Given the description of an element on the screen output the (x, y) to click on. 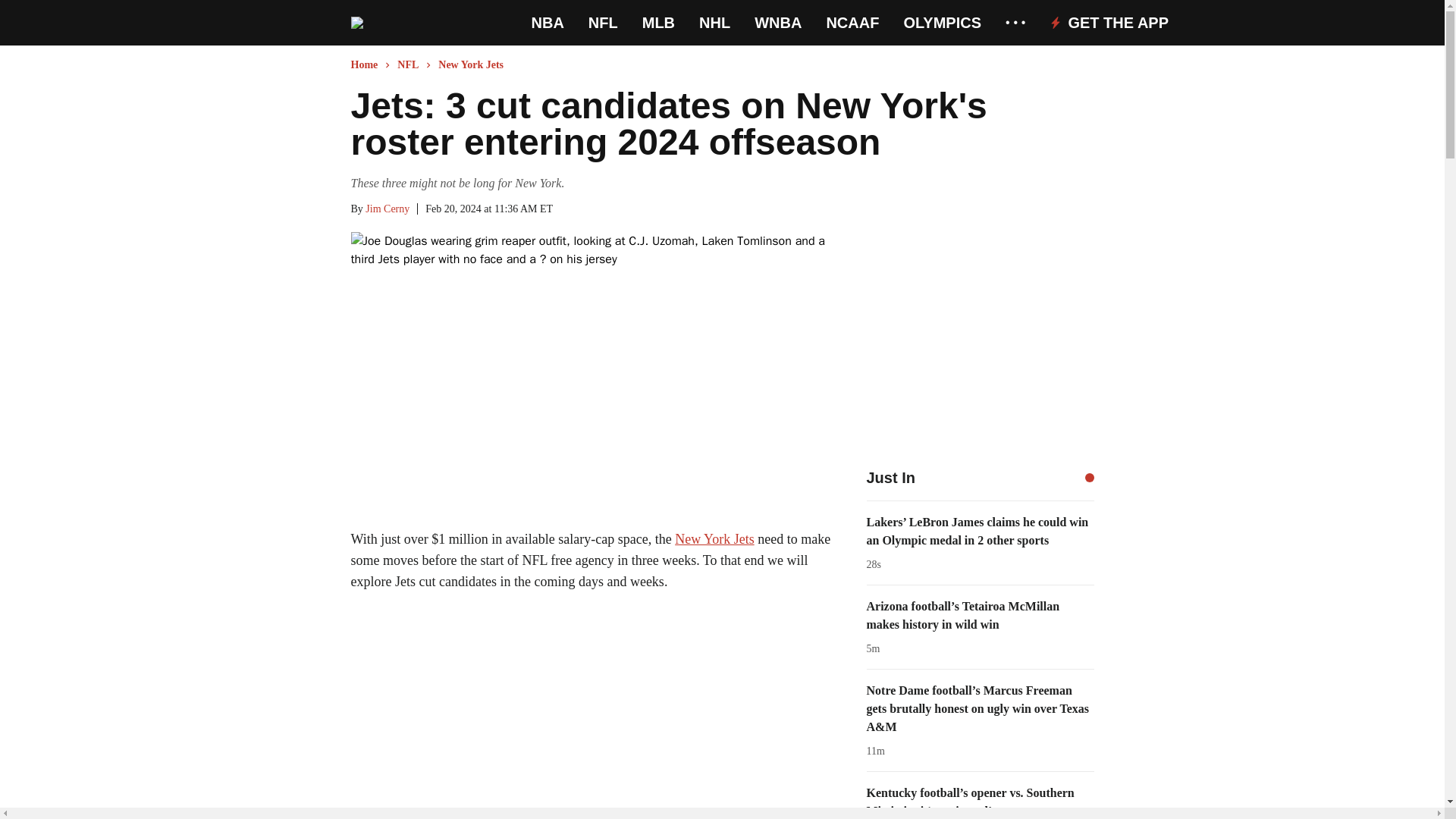
NBA (547, 22)
MLB (658, 22)
NFL (602, 22)
NFL (602, 22)
NBA (547, 22)
